Given the description of an element on the screen output the (x, y) to click on. 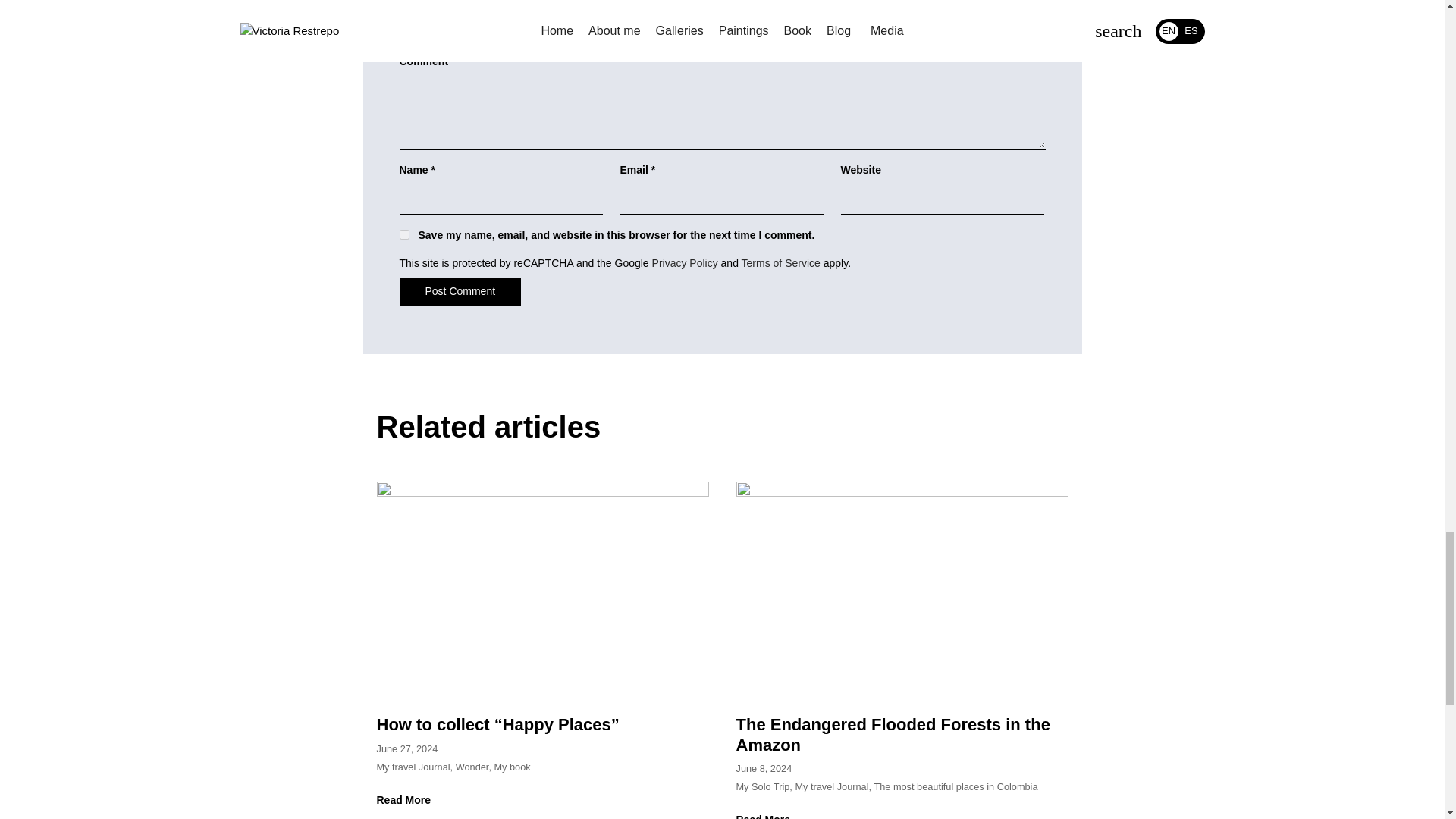
The Endangered Flooded Forests in the Amazon (892, 733)
My travel Journal (412, 767)
Post Comment (459, 291)
The Endangered Flooded Forests in the Amazon (892, 733)
Privacy Policy (684, 263)
The most beautiful places in Colombia (954, 786)
The Endangered Flooded Forests in the Amazon (901, 589)
Terms of Service (781, 263)
Wonder, My book (493, 767)
yes (403, 234)
Read More (408, 799)
My travel Journal (830, 786)
My Solo Trip (762, 786)
Post Comment (459, 291)
